Given the description of an element on the screen output the (x, y) to click on. 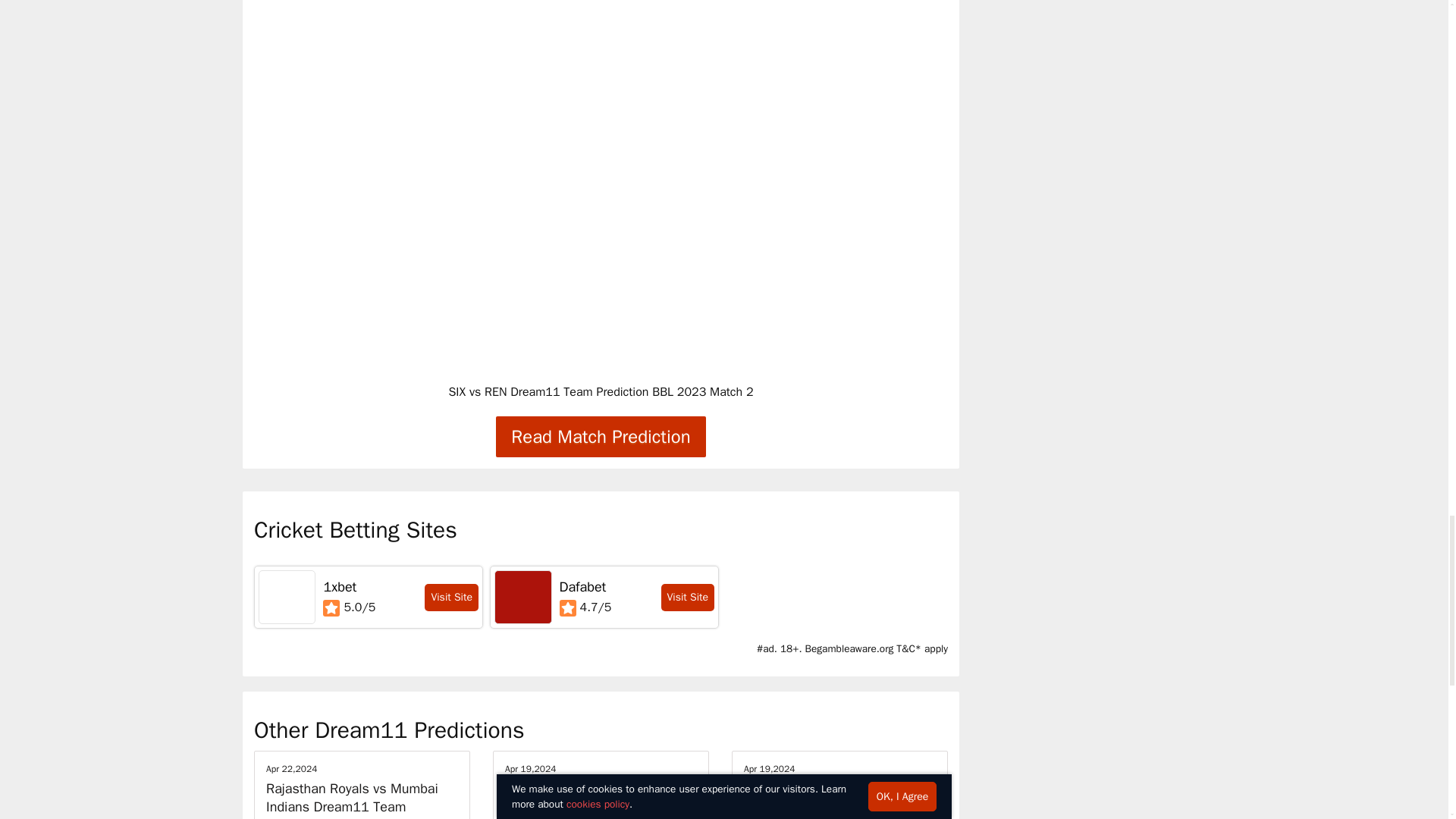
Visit Site (452, 596)
1xbet (339, 586)
Dafabet (583, 586)
Read Match Prediction (600, 436)
Visit Site (687, 596)
Dafabet (523, 596)
1xbet (287, 596)
